Given the description of an element on the screen output the (x, y) to click on. 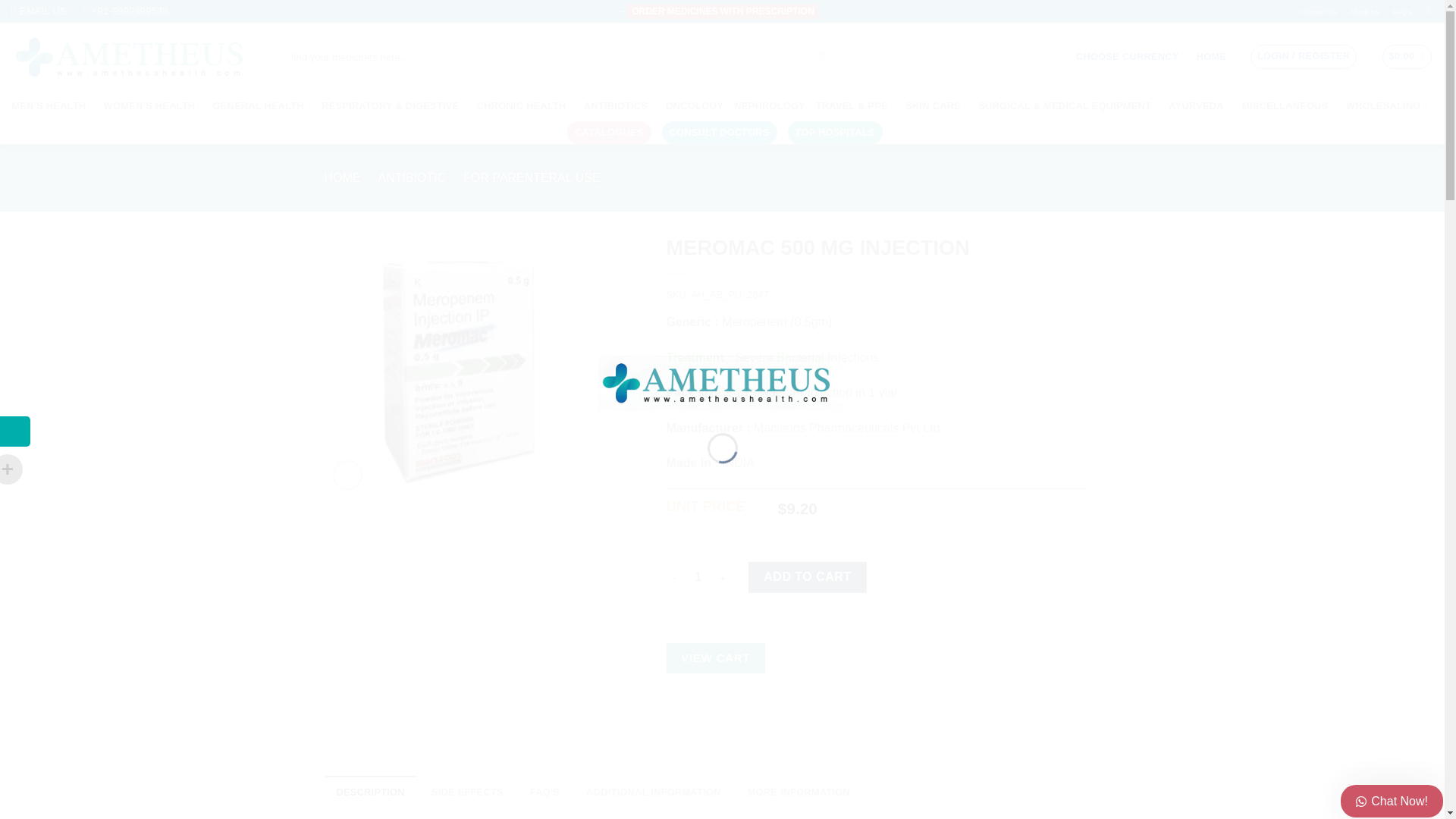
MEROMAC 500 MG INJECTION- Ametheus Health (454, 365)
Zoom (347, 474)
Search (821, 57)
Cart (1406, 56)
Ametheus Health (720, 381)
CHOOSE CURRENCY (1130, 57)
HOME (1210, 56)
Qty (697, 576)
EMAIL US (38, 11)
FAQ's (1401, 11)
Contact Us (1318, 11)
ORDER MEDICINES WITH PRESCRIPTION (722, 11)
1 (697, 576)
About Us (1363, 11)
Ametheus Health (135, 57)
